Given the description of an element on the screen output the (x, y) to click on. 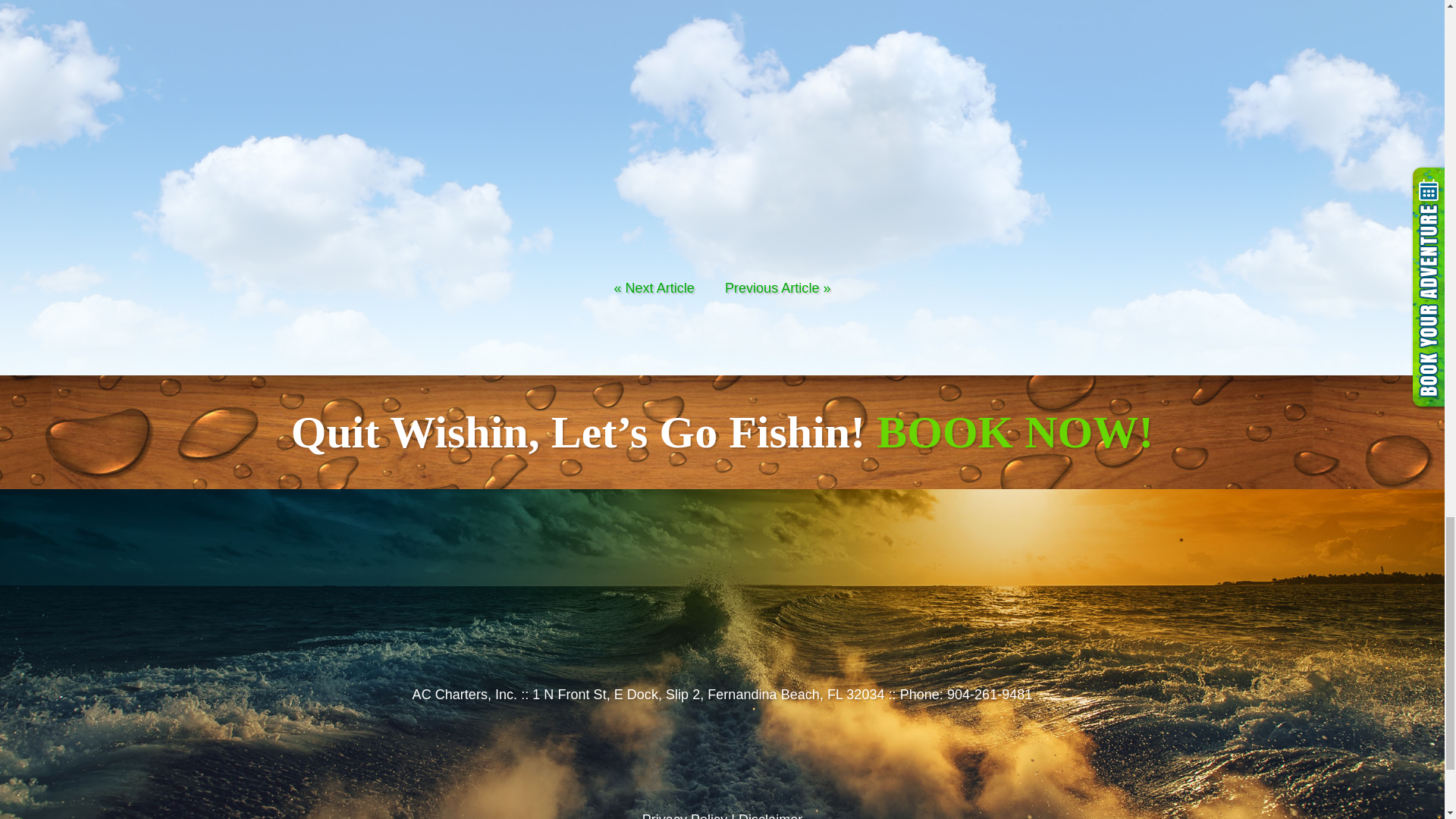
904-261-9481 (989, 694)
Disclaimer (770, 815)
BOOK NOW! (1014, 432)
Privacy Policy (684, 815)
